Given the description of an element on the screen output the (x, y) to click on. 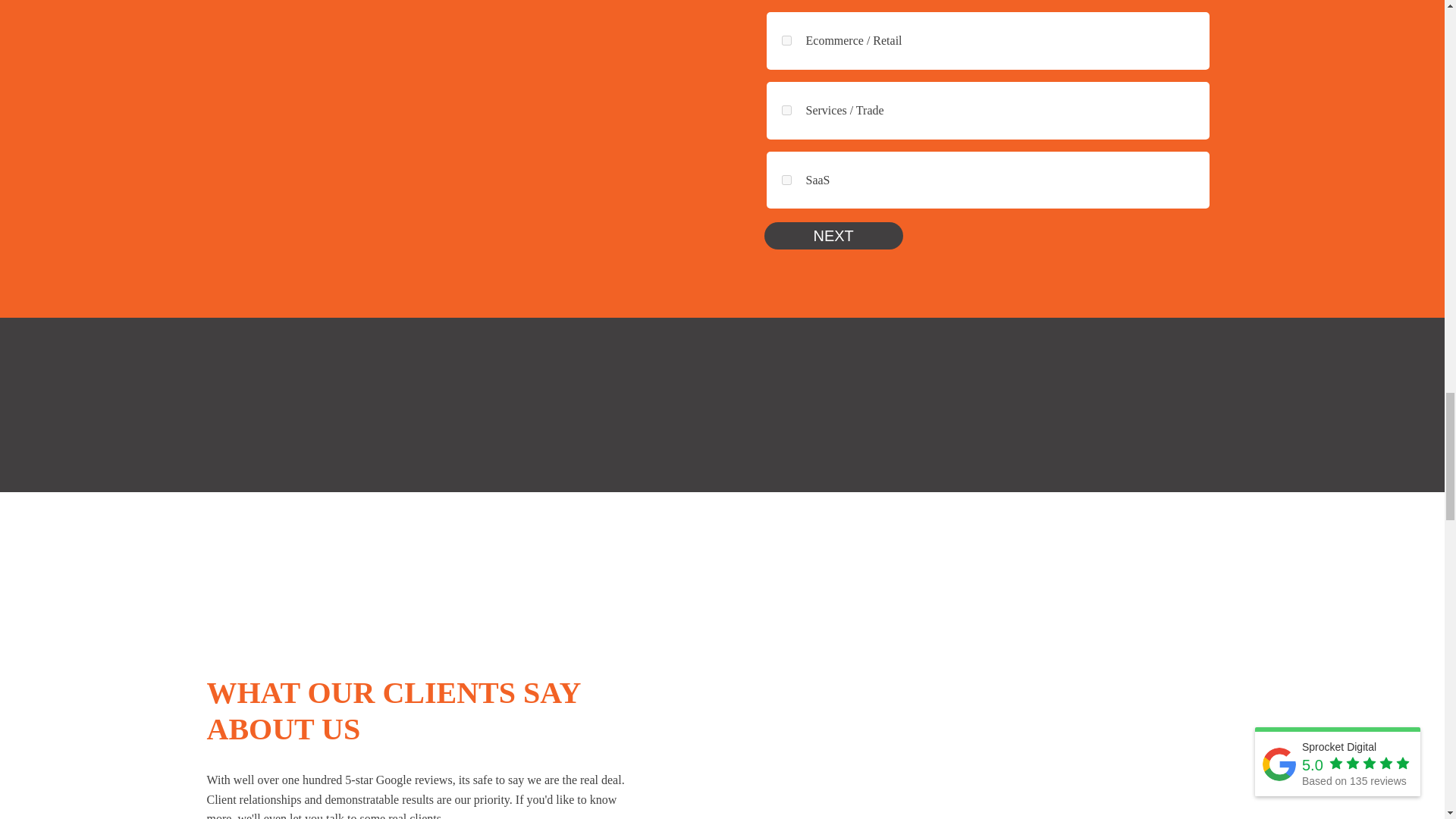
SaaS (785, 180)
YouTube video player (986, 691)
